Given the description of an element on the screen output the (x, y) to click on. 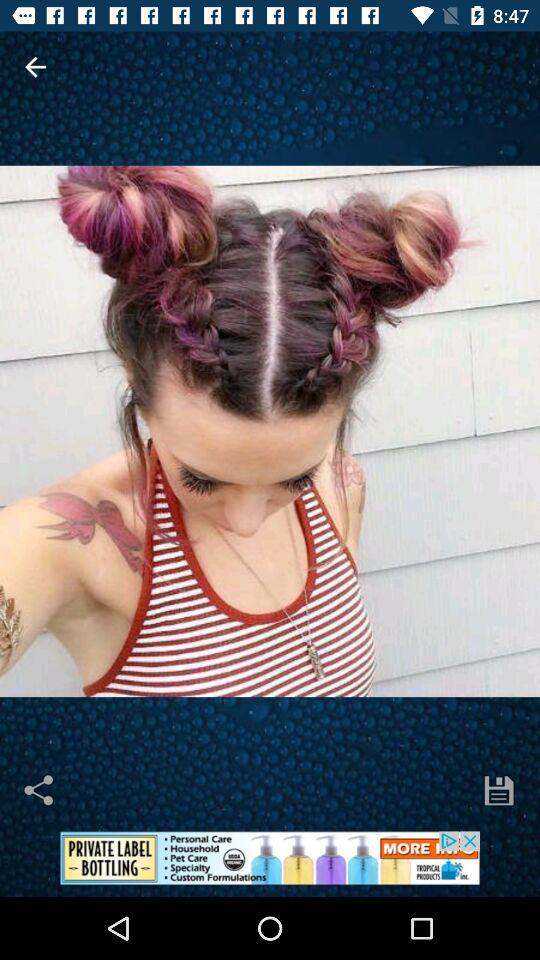
view advertising (270, 864)
